Given the description of an element on the screen output the (x, y) to click on. 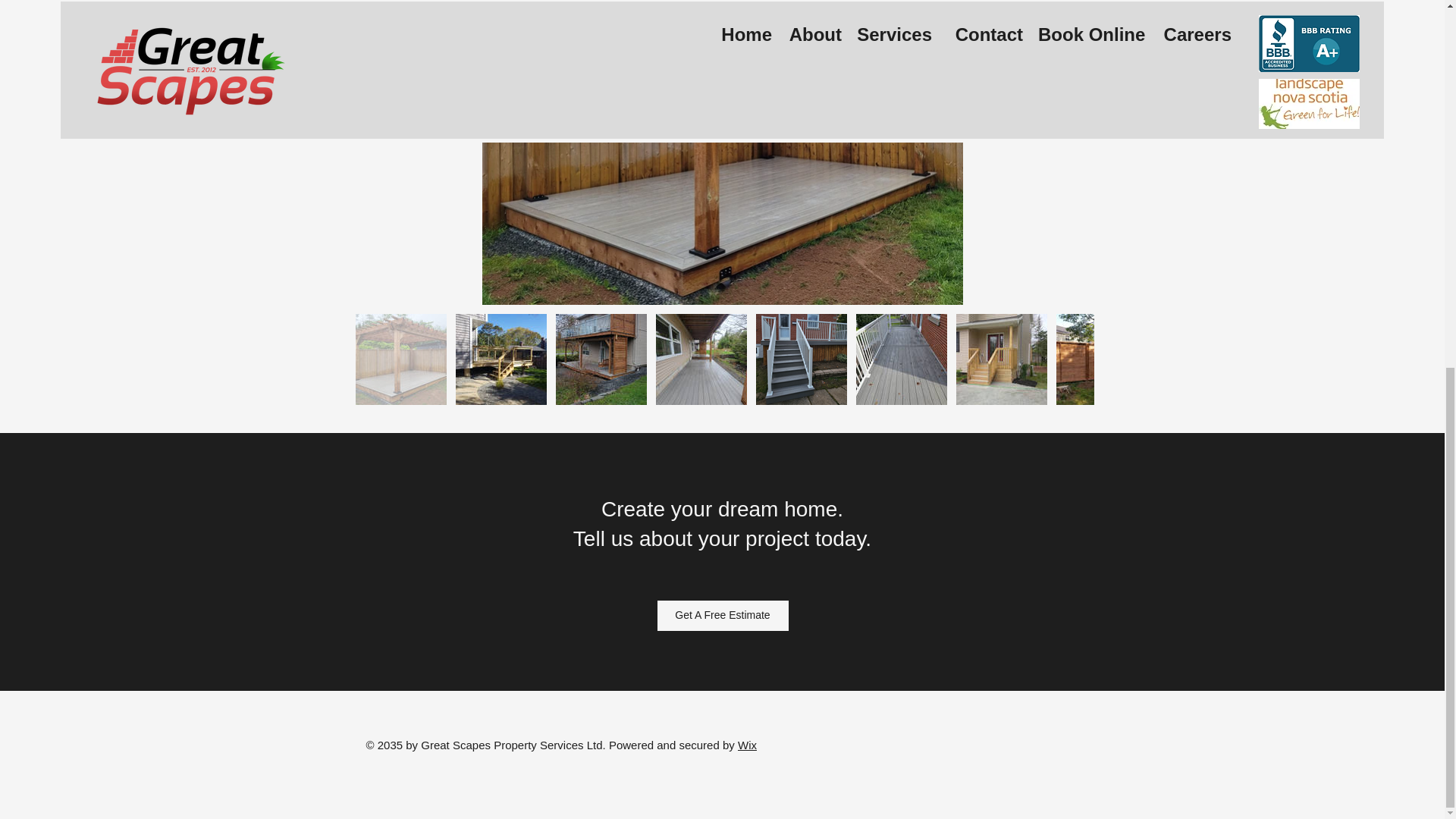
Wix (747, 744)
Get A Free Estimate (721, 615)
